Given the description of an element on the screen output the (x, y) to click on. 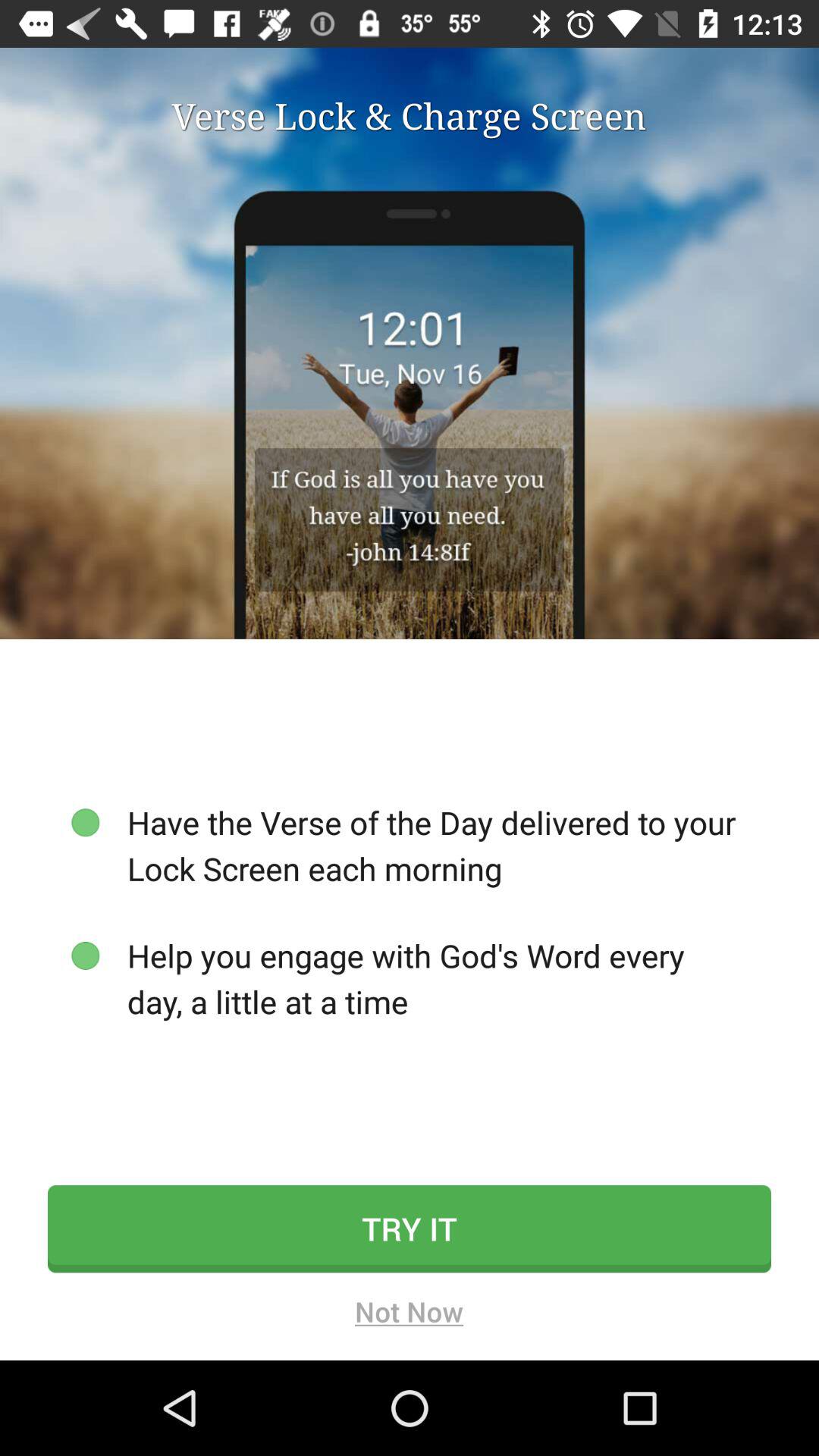
turn off icon below help you engage (409, 1228)
